Given the description of an element on the screen output the (x, y) to click on. 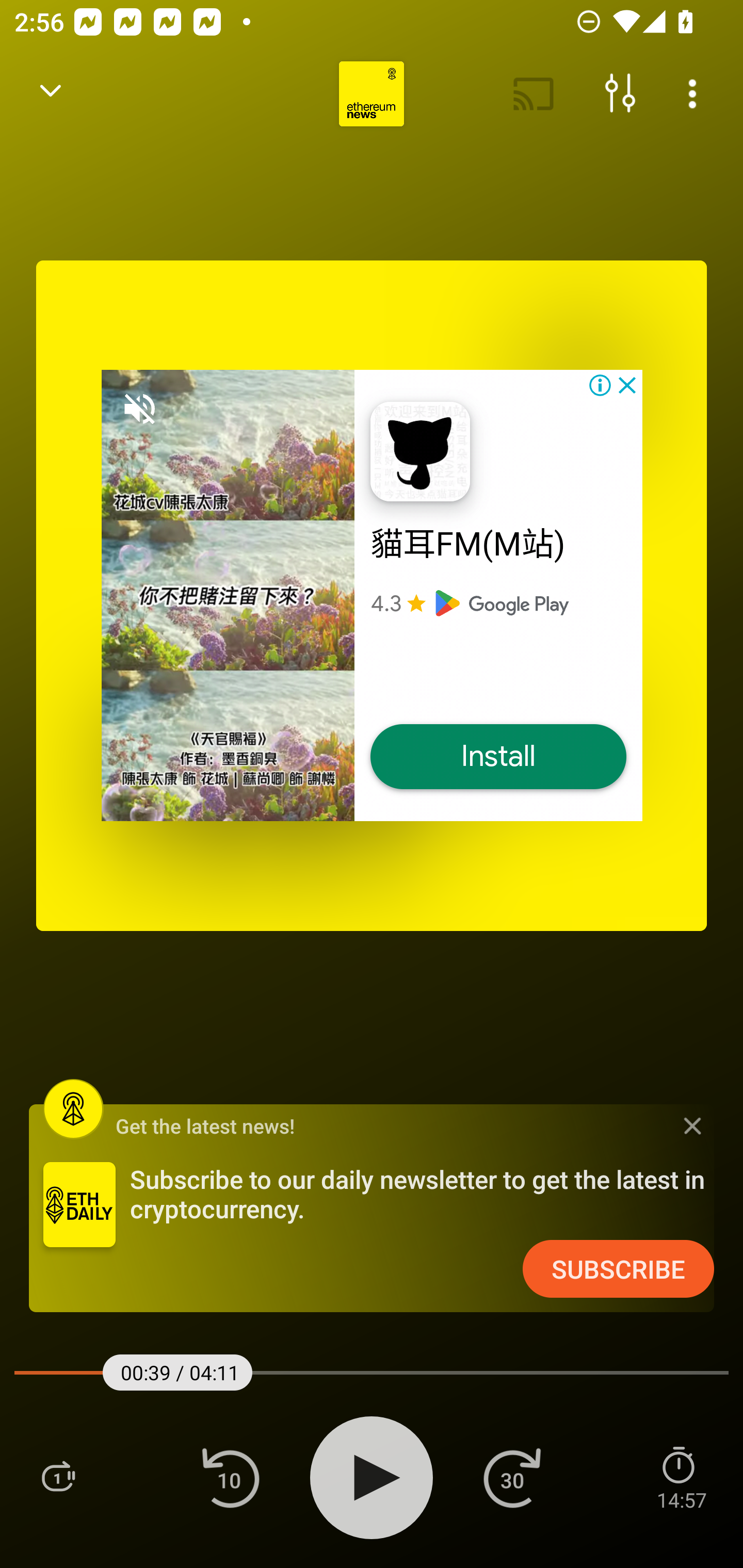
Cast. Disconnected (533, 93)
 Back (50, 94)
貓耳FM(M站) 4.3 Install Install (371, 595)
Install (498, 757)
SUBSCRIBE (618, 1269)
Sleep Timer  14:57 (681, 1477)
 Playlist (57, 1477)
